Given the description of an element on the screen output the (x, y) to click on. 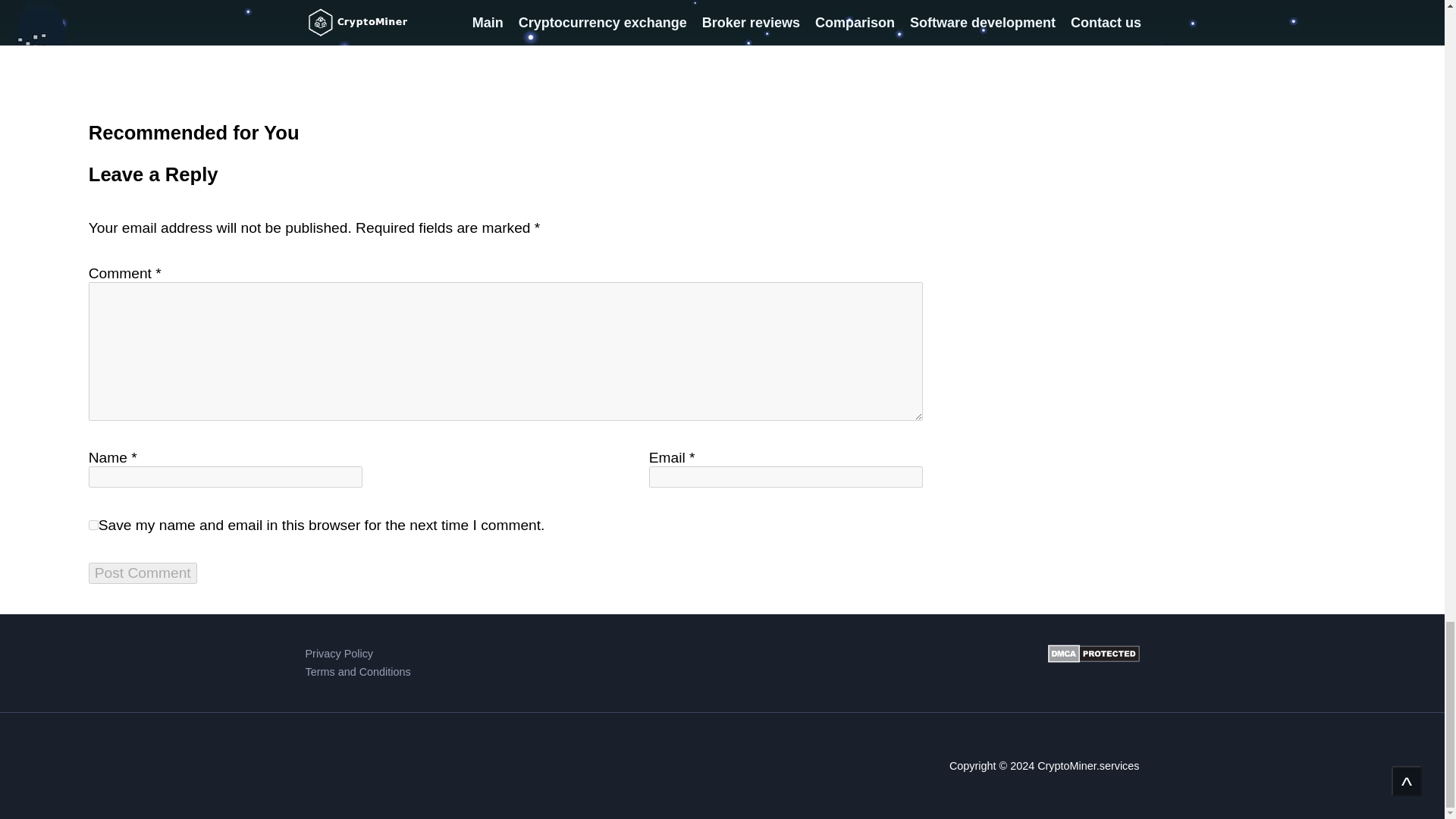
DMCA.com Protection Status (1094, 662)
Post Comment (142, 572)
yes (93, 524)
